Given the description of an element on the screen output the (x, y) to click on. 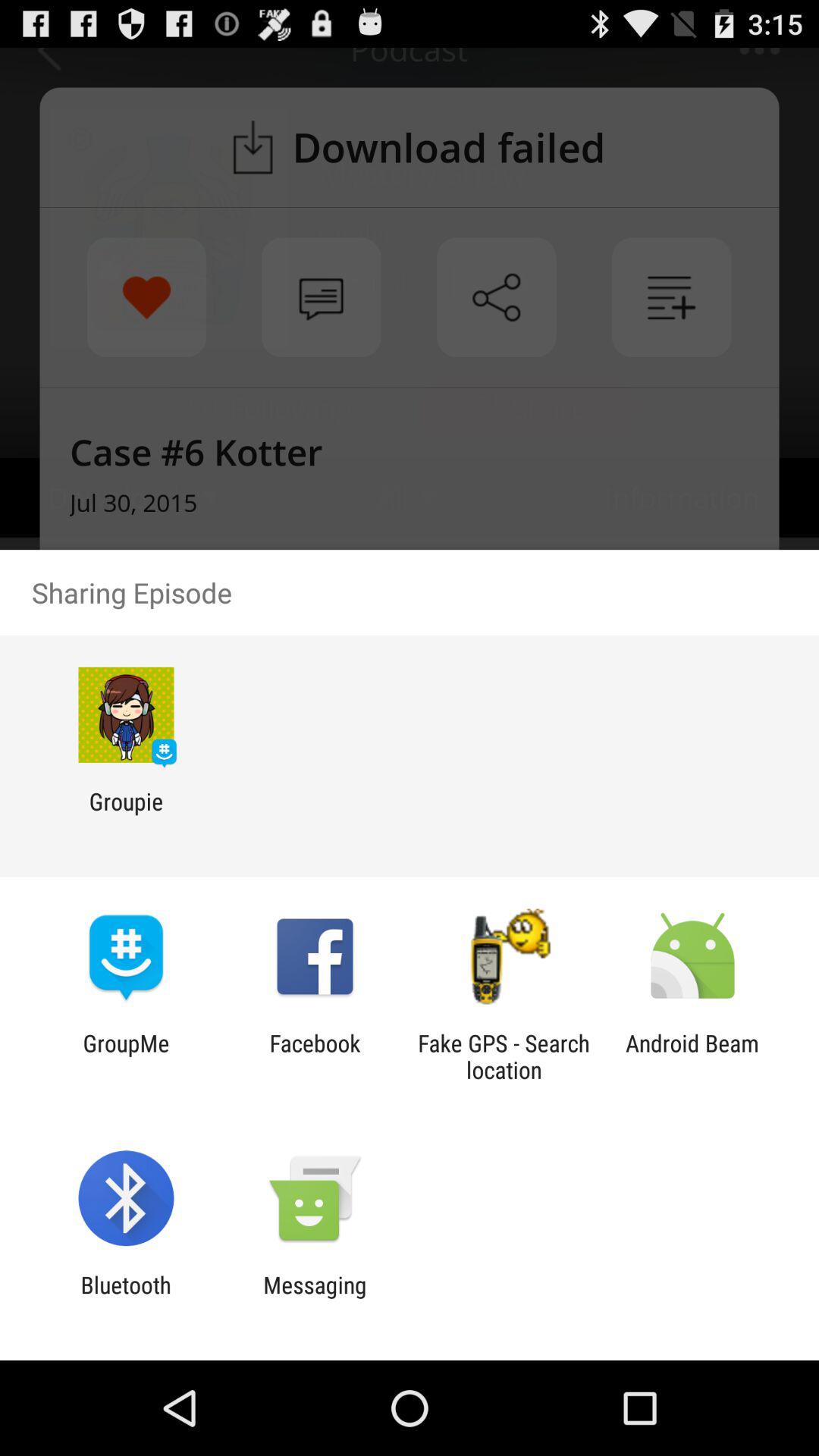
select the groupie item (126, 814)
